Given the description of an element on the screen output the (x, y) to click on. 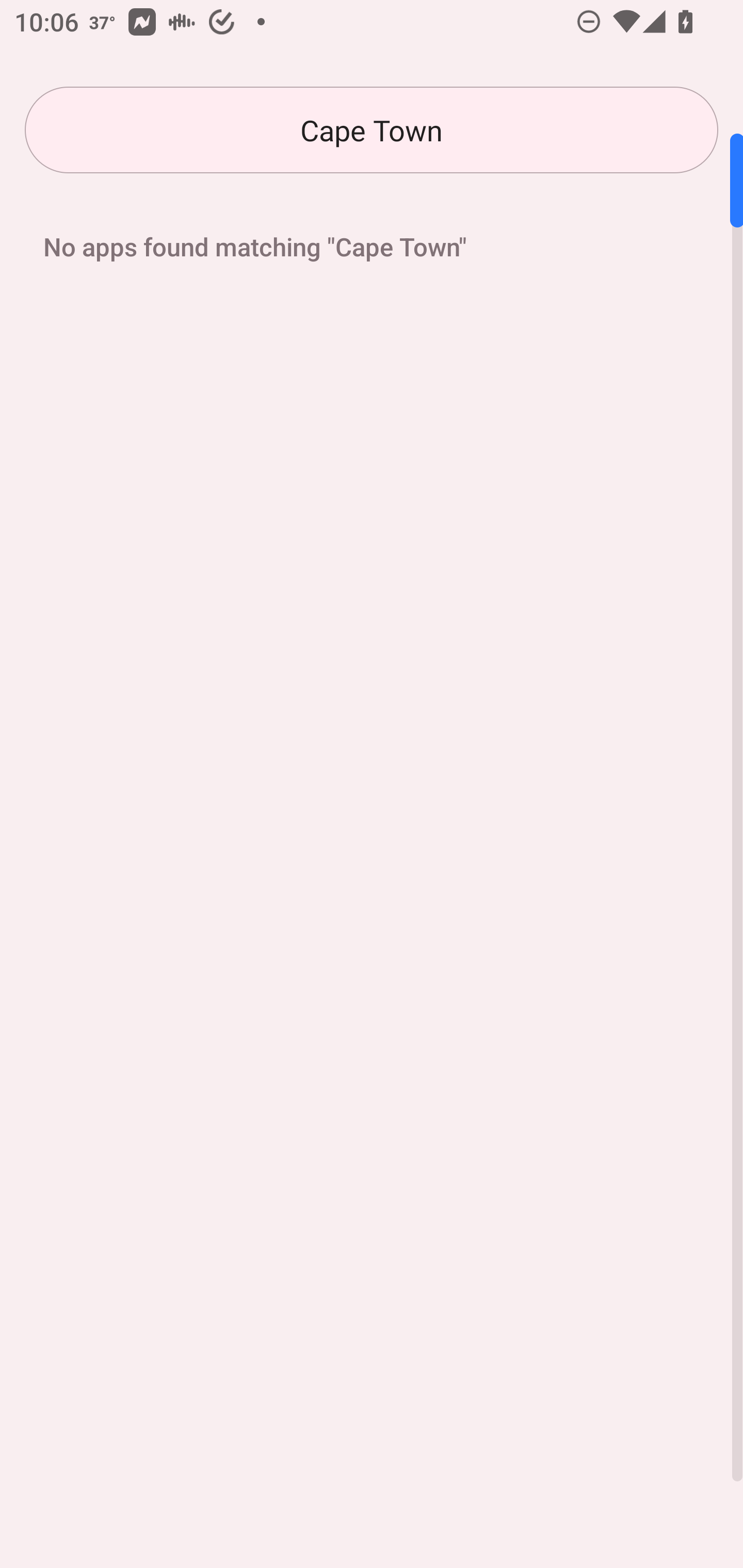
Cape Town (371, 130)
